Given the description of an element on the screen output the (x, y) to click on. 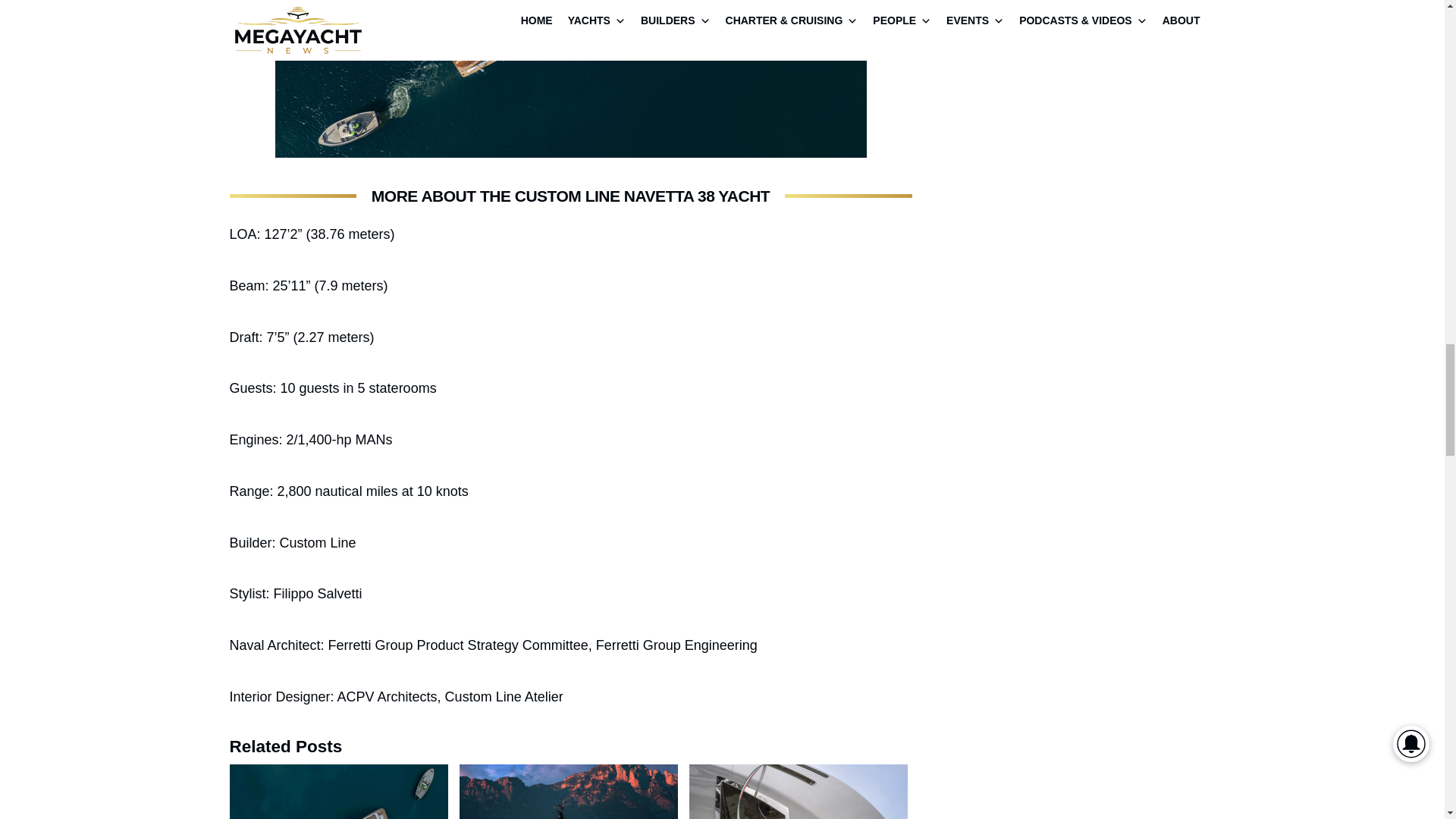
Meet the 18th Custom Line Navetta 30 Yacht Launch (797, 791)
11th Custom Line Navetta 30 Yacht Launch Kicks off 2023 (337, 791)
Custom Line Navetta 38 Yacht Sets New Design Standards (569, 791)
